Given the description of an element on the screen output the (x, y) to click on. 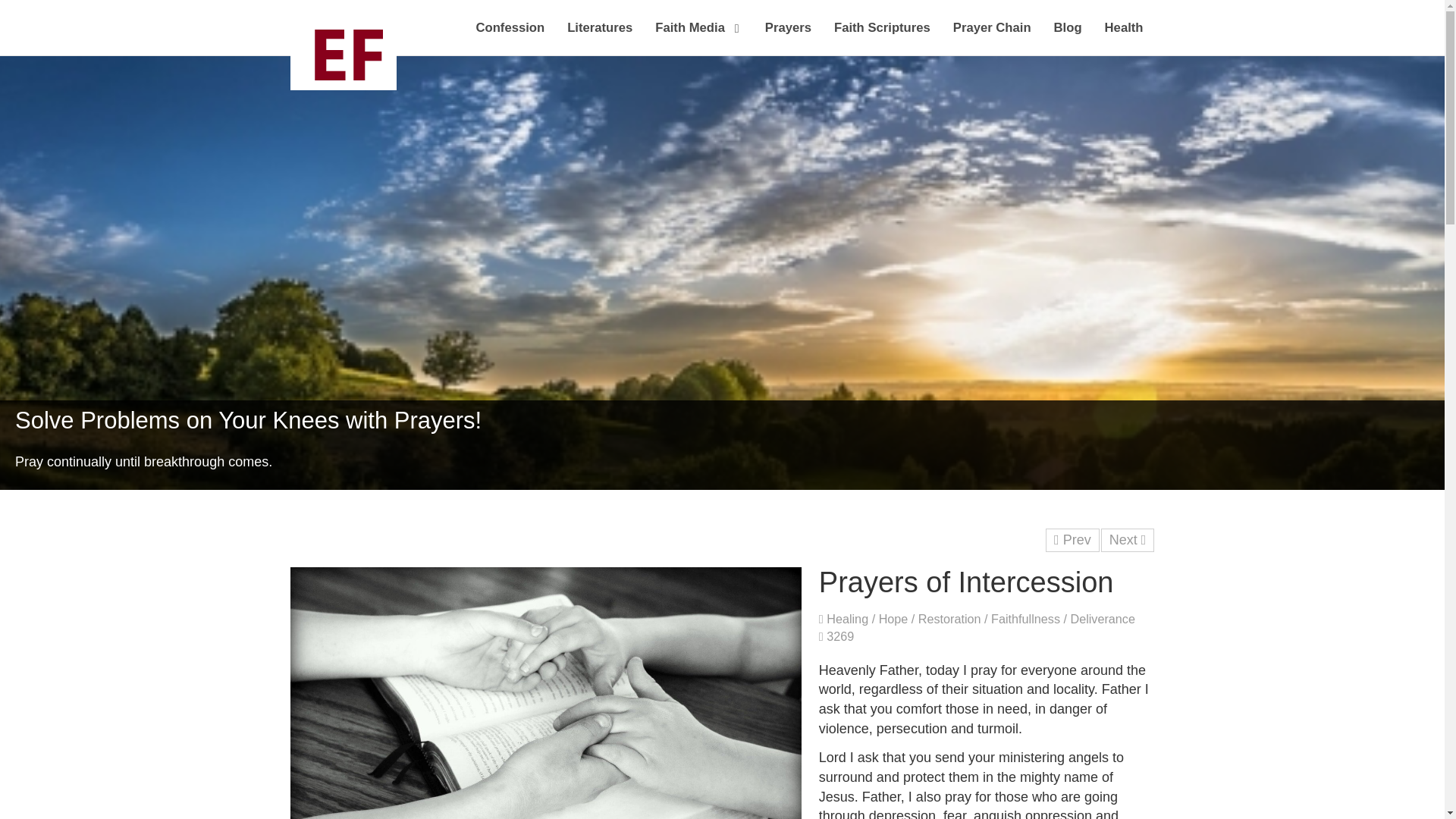
Next (1127, 540)
Prayers (788, 36)
Effective Faith (342, 53)
Faith Scriptures (882, 36)
Blog (1067, 36)
Prayer Chain (992, 36)
Confession (510, 36)
Prev (1072, 540)
Health (1123, 36)
Literatures (599, 36)
Faith Media (698, 36)
